Given the description of an element on the screen output the (x, y) to click on. 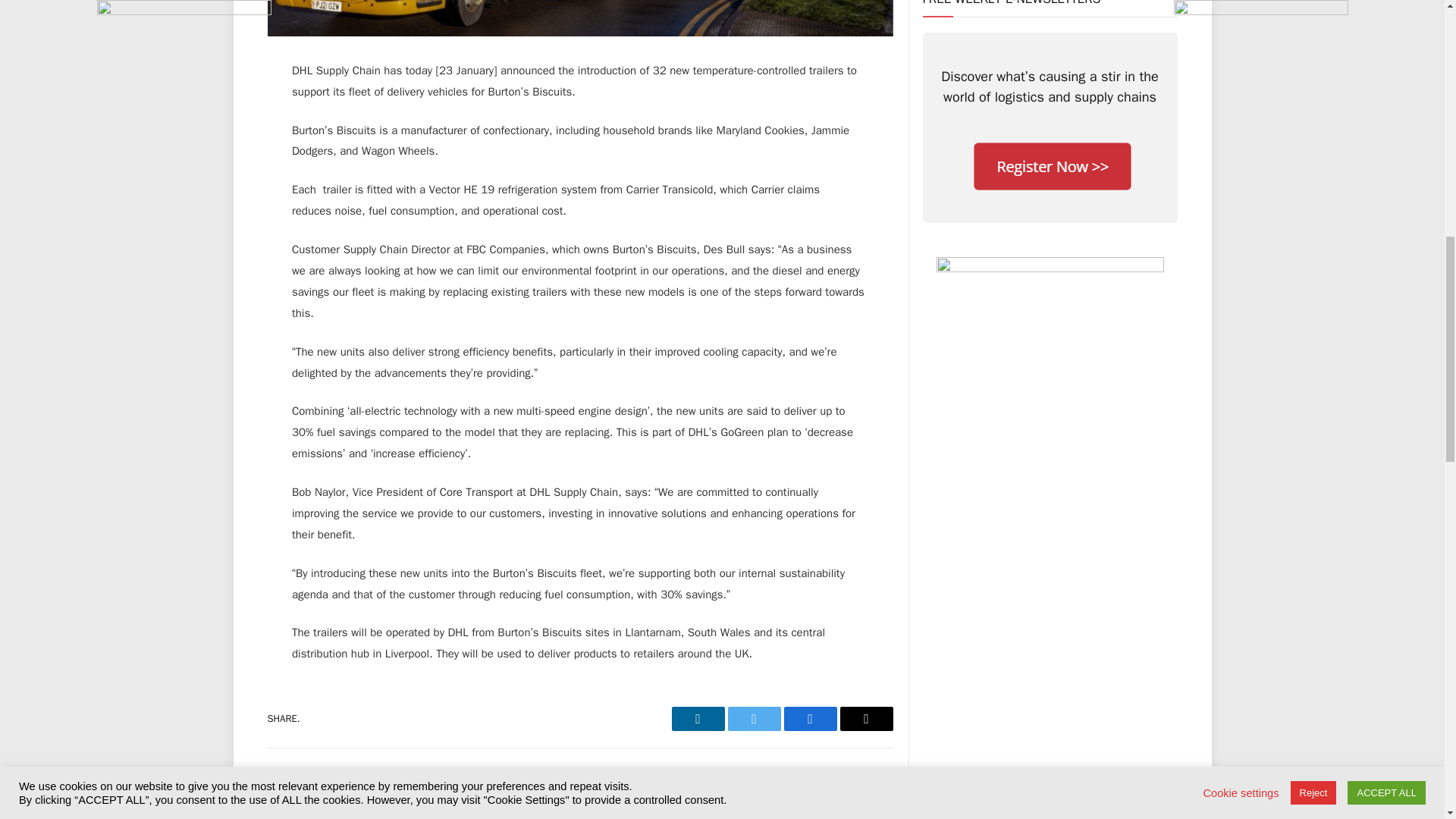
Share on LinkedIn (698, 718)
